Given the description of an element on the screen output the (x, y) to click on. 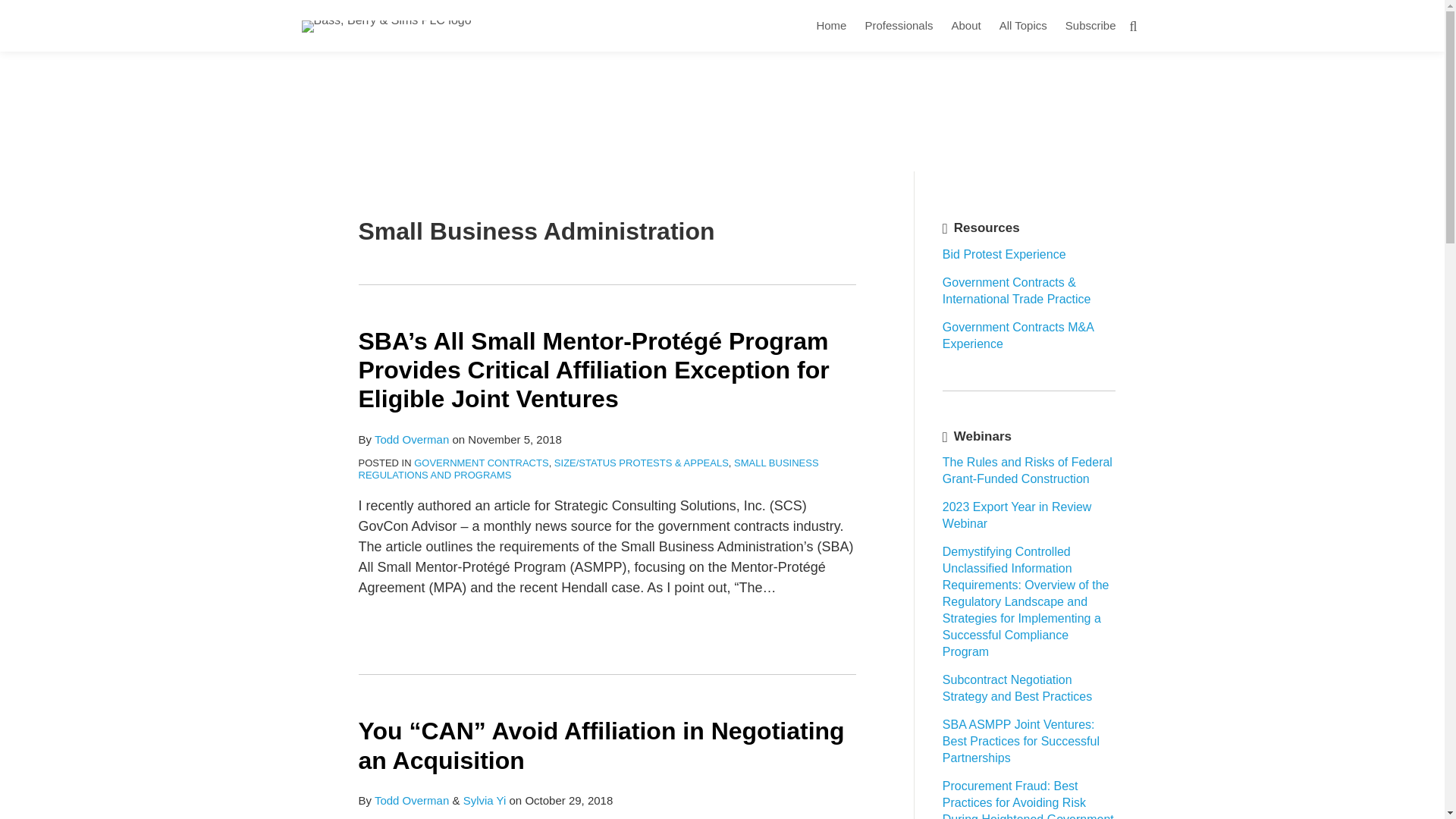
Home (830, 25)
GOVERNMENT CONTRACTS (480, 462)
Subcontract Negotiation Strategy and Best Practices (1017, 687)
2023 Export Year in Review Webinar (1017, 514)
Bid Protest Experience (1003, 254)
All Topics (1022, 25)
Todd Overman (411, 439)
SMALL BUSINESS REGULATIONS AND PROGRAMS (588, 468)
The Rules and Risks of Federal Grant-Funded Construction (1027, 470)
